Given the description of an element on the screen output the (x, y) to click on. 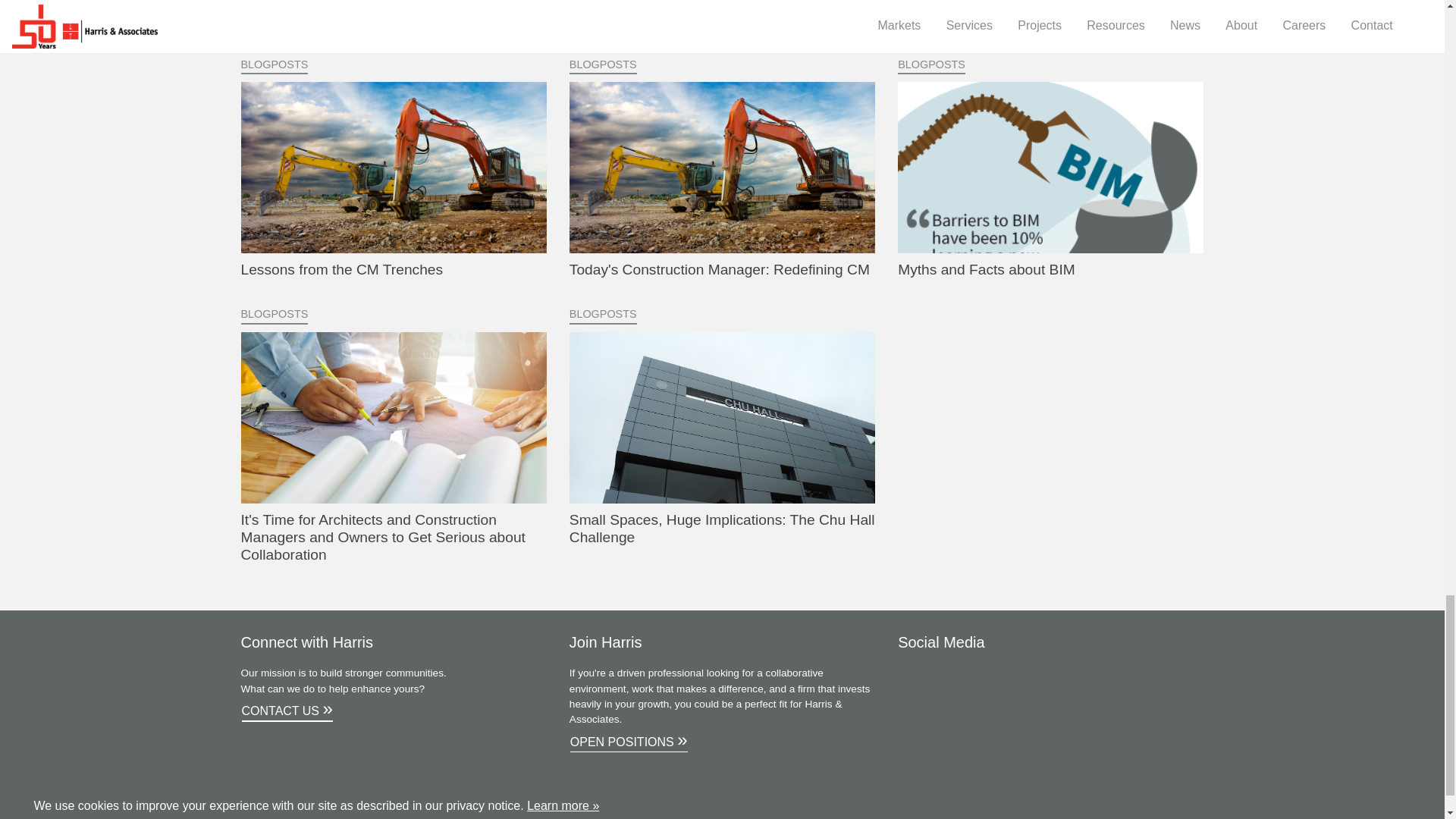
Contact (291, 711)
